Given the description of an element on the screen output the (x, y) to click on. 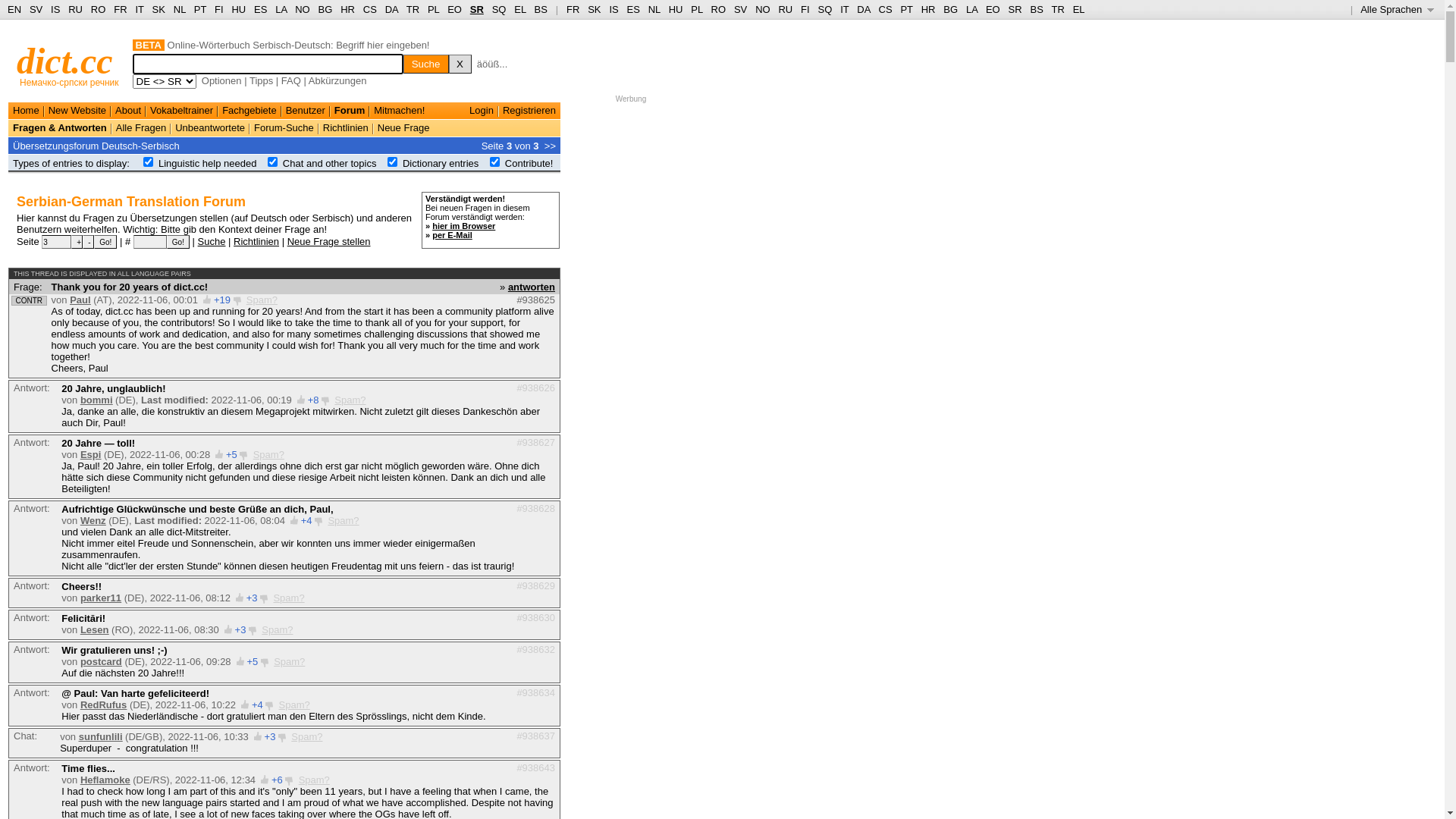
#938643 Element type: text (535, 766)
Spam? Element type: text (276, 629)
#938627 Element type: text (535, 442)
Home Element type: text (25, 110)
ES Element type: text (633, 9)
Login Element type: text (481, 110)
SK Element type: text (593, 9)
Spam? Element type: text (288, 661)
NO Element type: text (302, 9)
HU Element type: text (238, 9)
Suche Element type: text (425, 63)
X Element type: text (459, 63)
FI Element type: text (804, 9)
Spam? Element type: text (313, 779)
FR Element type: text (572, 9)
+8 Element type: text (313, 399)
SK Element type: text (158, 9)
BG Element type: text (325, 9)
RO Element type: text (98, 9)
+3 Element type: text (240, 629)
Linguistic help needed Element type: text (207, 163)
bommi Element type: text (96, 399)
#938625 Element type: text (535, 299)
RU Element type: text (75, 9)
Spam? Element type: text (306, 736)
IS Element type: text (54, 9)
SV Element type: text (740, 9)
Fragen & Antworten Element type: text (59, 127)
RO Element type: text (718, 9)
Optionen Element type: text (221, 80)
Neue Frage Element type: text (403, 127)
TR Element type: text (1057, 9)
NO Element type: text (762, 9)
EO Element type: text (992, 9)
+5 Element type: text (231, 454)
PT Element type: text (906, 9)
+6 Element type: text (276, 779)
ES Element type: text (260, 9)
postcard Element type: text (101, 661)
SR Element type: text (1015, 9)
IT Element type: text (844, 9)
EO Element type: text (454, 9)
#938626 Element type: text (535, 387)
Forum Element type: text (349, 110)
Contribute! Element type: text (529, 163)
Forum-Suche Element type: text (283, 127)
#938630 Element type: text (535, 616)
Richtlinien Element type: text (256, 240)
#938637 Element type: text (535, 734)
FAQ Element type: text (291, 80)
Registrieren Element type: text (528, 110)
HR Element type: text (928, 9)
Neue Frage stellen Element type: text (328, 240)
Richtlinien Element type: text (345, 127)
CONTR Element type: text (28, 300)
BS Element type: text (1035, 9)
RedRufus Element type: text (103, 704)
Spam? Element type: text (349, 399)
About Element type: text (128, 110)
Mitmachen! Element type: text (398, 110)
Paul Element type: text (79, 299)
Spam? Element type: text (342, 520)
SQ Element type: text (499, 9)
Spam? Element type: text (268, 454)
dict.cc Element type: text (64, 60)
Spam? Element type: text (261, 299)
Alle Sprachen  Element type: text (1397, 9)
SV Element type: text (35, 9)
+4 Element type: text (306, 520)
on Element type: text (272, 161)
PL Element type: text (433, 9)
Alle Fragen Element type: text (141, 127)
FR Element type: text (119, 9)
IT Element type: text (138, 9)
IS Element type: text (613, 9)
Vokabeltrainer Element type: text (181, 110)
Unbeantwortete Element type: text (209, 127)
sunfunlili Element type: text (100, 736)
SR Element type: text (476, 9)
+4 Element type: text (257, 704)
EN Element type: text (14, 9)
Wenz Element type: text (93, 520)
Chat and other topics Element type: text (329, 163)
on Element type: text (148, 161)
#938632 Element type: text (535, 648)
#938629 Element type: text (535, 584)
on Element type: text (392, 161)
TR Element type: text (412, 9)
DA Element type: text (862, 9)
Go! Element type: text (105, 241)
PL Element type: text (696, 9)
Lesen Element type: text (94, 629)
#938634 Element type: text (535, 692)
Spam? Element type: text (294, 704)
Spam? Element type: text (288, 597)
PT Element type: text (200, 9)
Fachgebiete Element type: text (249, 110)
RU Element type: text (785, 9)
Serbian-German Translation Forum Element type: text (130, 201)
EL Element type: text (1079, 9)
on Element type: text (494, 161)
+3 Element type: text (270, 736)
Heflamoke Element type: text (105, 779)
antworten Element type: text (531, 285)
Benutzer Element type: text (305, 110)
SQ Element type: text (824, 9)
parker11 Element type: text (100, 597)
Go! Element type: text (177, 241)
New Website Element type: text (77, 110)
BG Element type: text (950, 9)
DA Element type: text (391, 9)
+3 Element type: text (251, 597)
BS Element type: text (540, 9)
LA Element type: text (280, 9)
LA Element type: text (971, 9)
CS Element type: text (884, 9)
+19 Element type: text (221, 299)
EL Element type: text (519, 9)
NL Element type: text (179, 9)
HR Element type: text (347, 9)
+5 Element type: text (251, 661)
>> Element type: text (549, 144)
FI Element type: text (218, 9)
#938628 Element type: text (535, 507)
HU Element type: text (675, 9)
Dictionary entries Element type: text (440, 163)
Suche Element type: text (211, 240)
Tipps Element type: text (261, 80)
Espi Element type: text (90, 454)
CS Element type: text (369, 9)
NL Element type: text (654, 9)
